Given the description of an element on the screen output the (x, y) to click on. 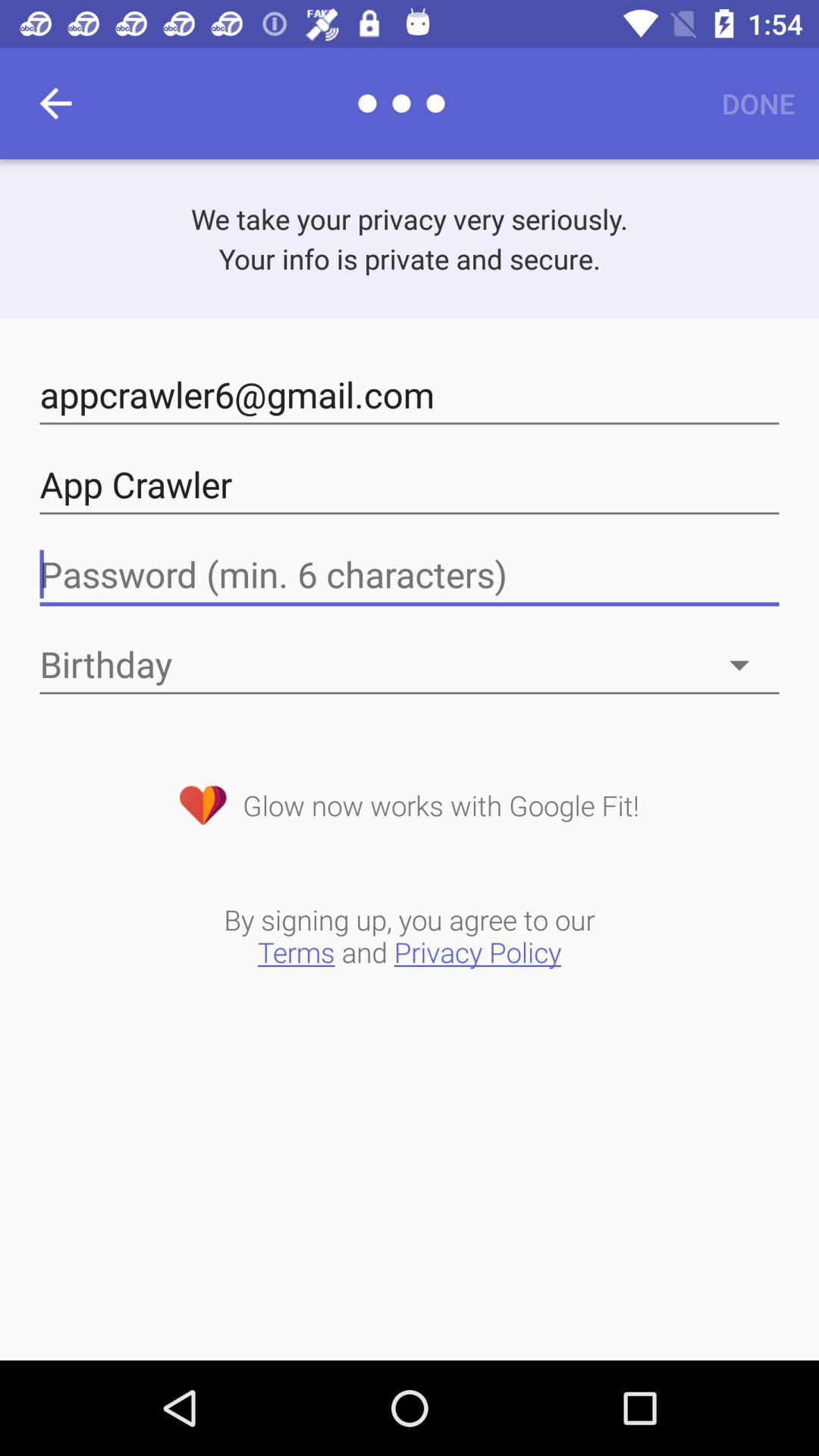
enter password (409, 574)
